Given the description of an element on the screen output the (x, y) to click on. 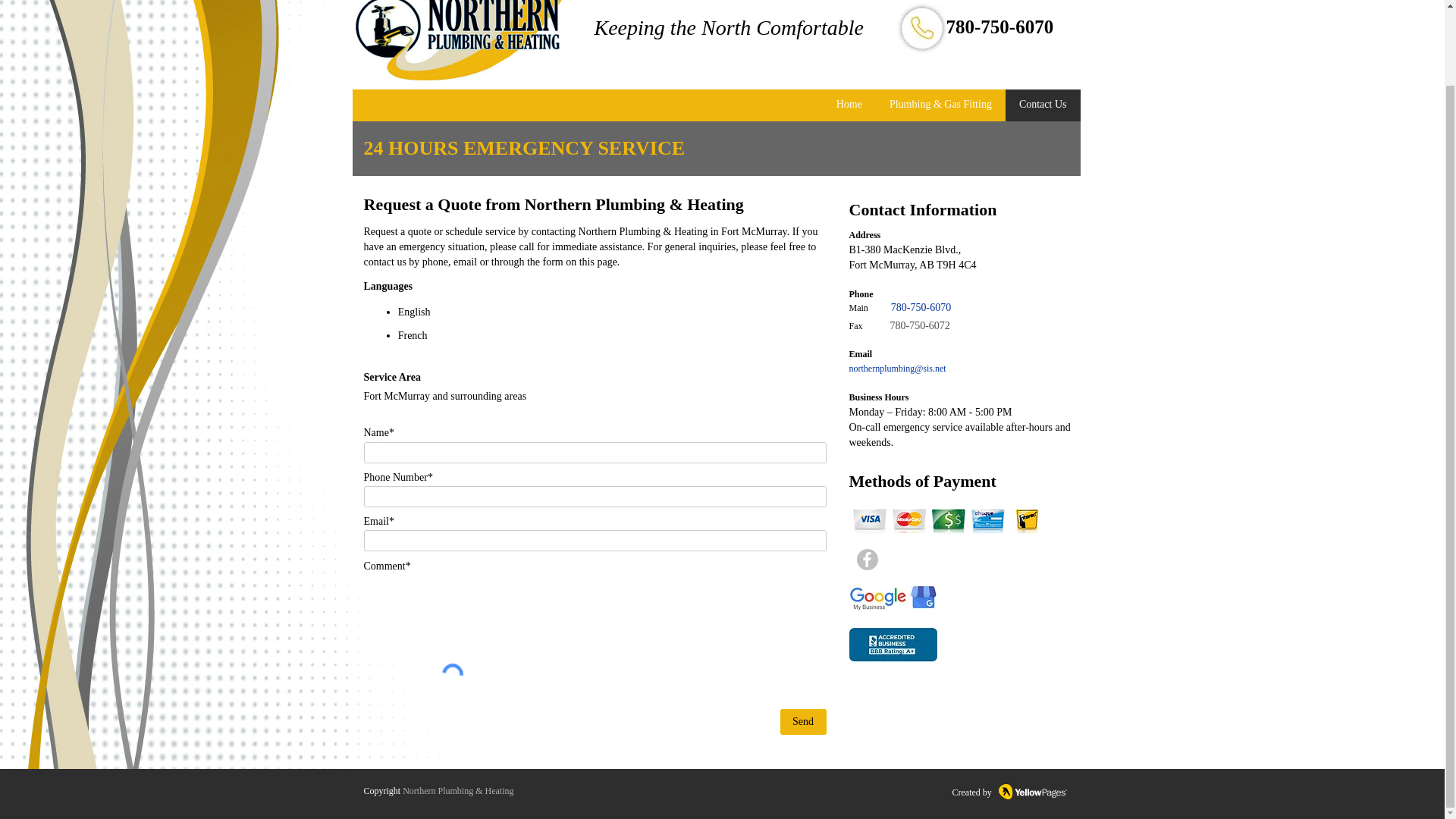
Home (849, 105)
780-750-6070 (920, 307)
Contact Us (1043, 105)
Send (801, 721)
780-750-6070 (1000, 30)
